Given the description of an element on the screen output the (x, y) to click on. 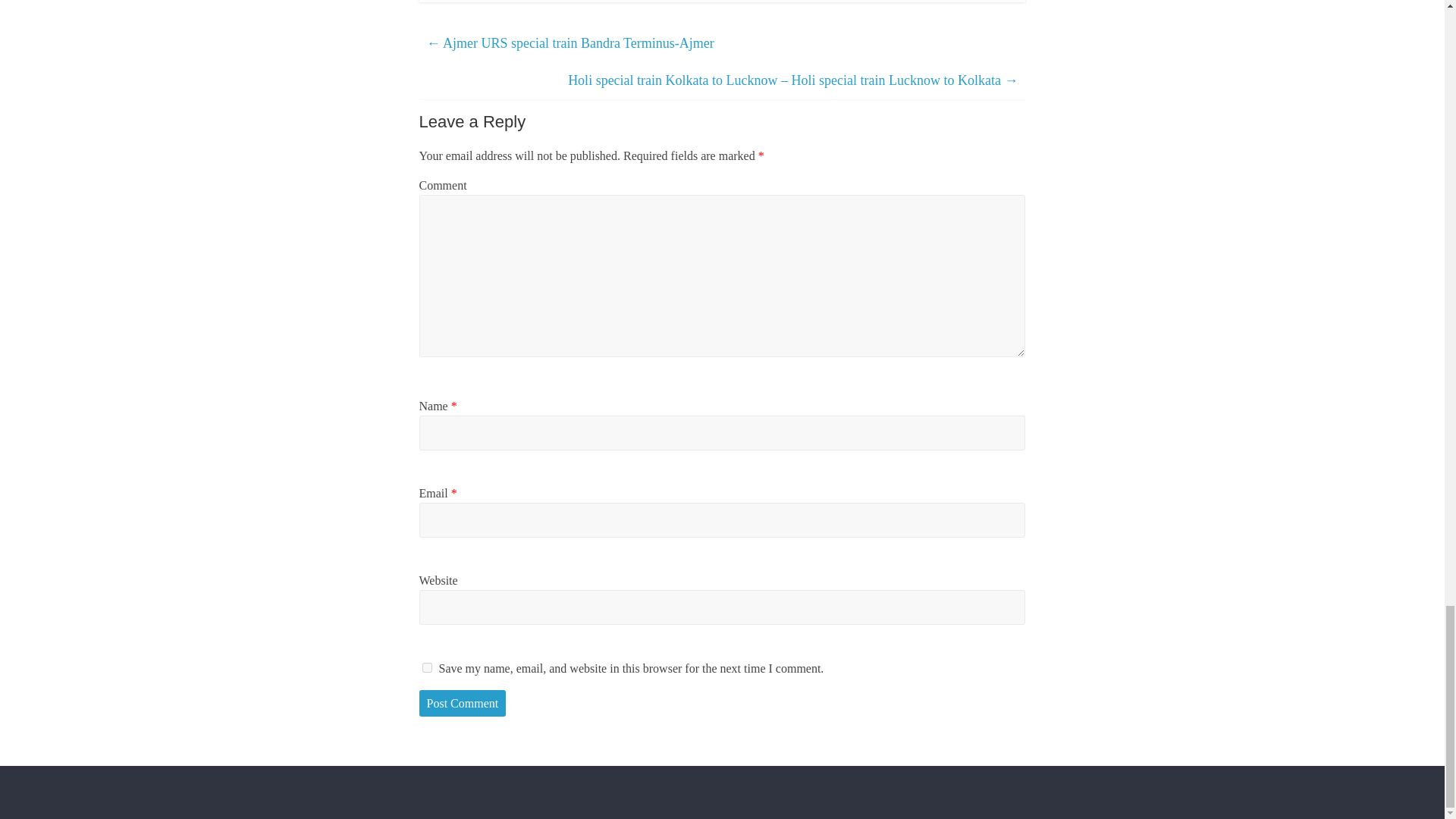
yes (426, 667)
Post Comment (462, 703)
Post Comment (462, 703)
